Given the description of an element on the screen output the (x, y) to click on. 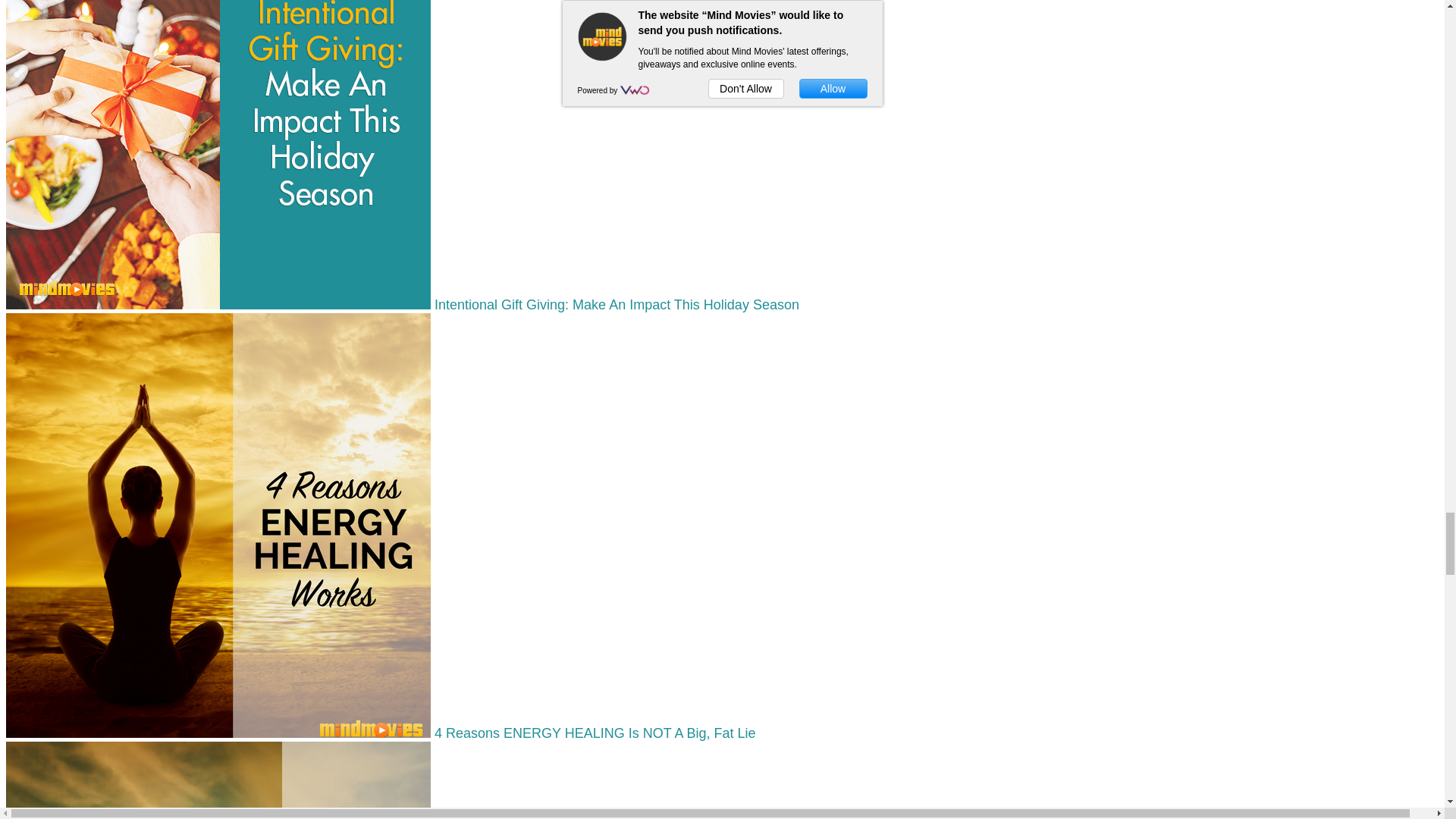
Intentional Gift Giving: Make An Impact This Holiday Season (402, 304)
